Given the description of an element on the screen output the (x, y) to click on. 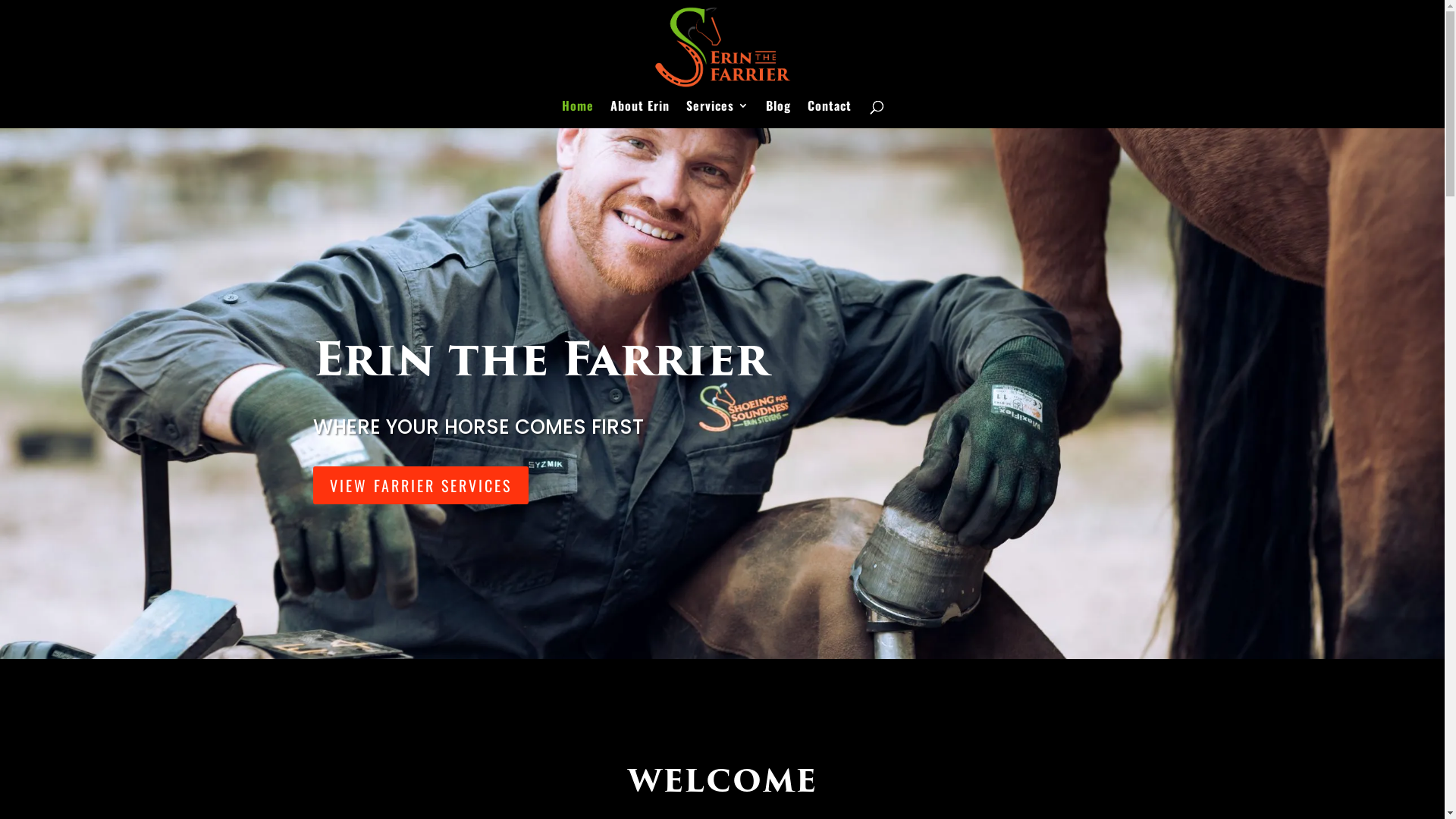
About Erin Element type: text (638, 114)
Services Element type: text (716, 114)
Blog Element type: text (777, 114)
Contact Element type: text (828, 114)
Home Element type: text (577, 114)
VIEW FARRIER SERVICES Element type: text (419, 485)
